Given the description of an element on the screen output the (x, y) to click on. 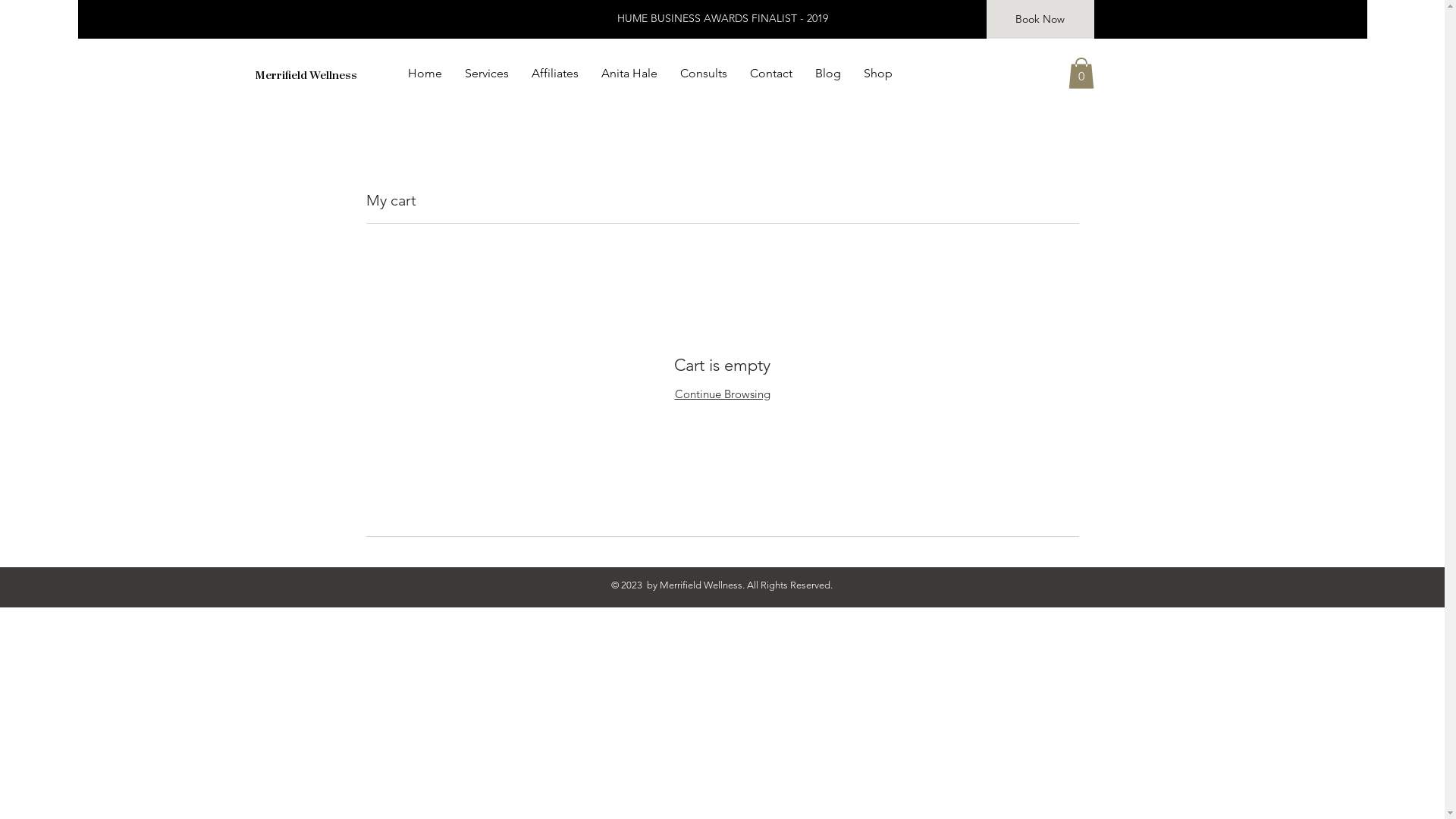
0 Element type: text (1080, 72)
Contact Element type: text (770, 73)
Services Element type: text (486, 73)
Continue Browsing Element type: text (722, 393)
Anita Hale Element type: text (628, 73)
Blog Element type: text (827, 73)
Affiliates Element type: text (554, 73)
Shop Element type: text (877, 73)
Consults Element type: text (703, 73)
Home Element type: text (423, 73)
